Given the description of an element on the screen output the (x, y) to click on. 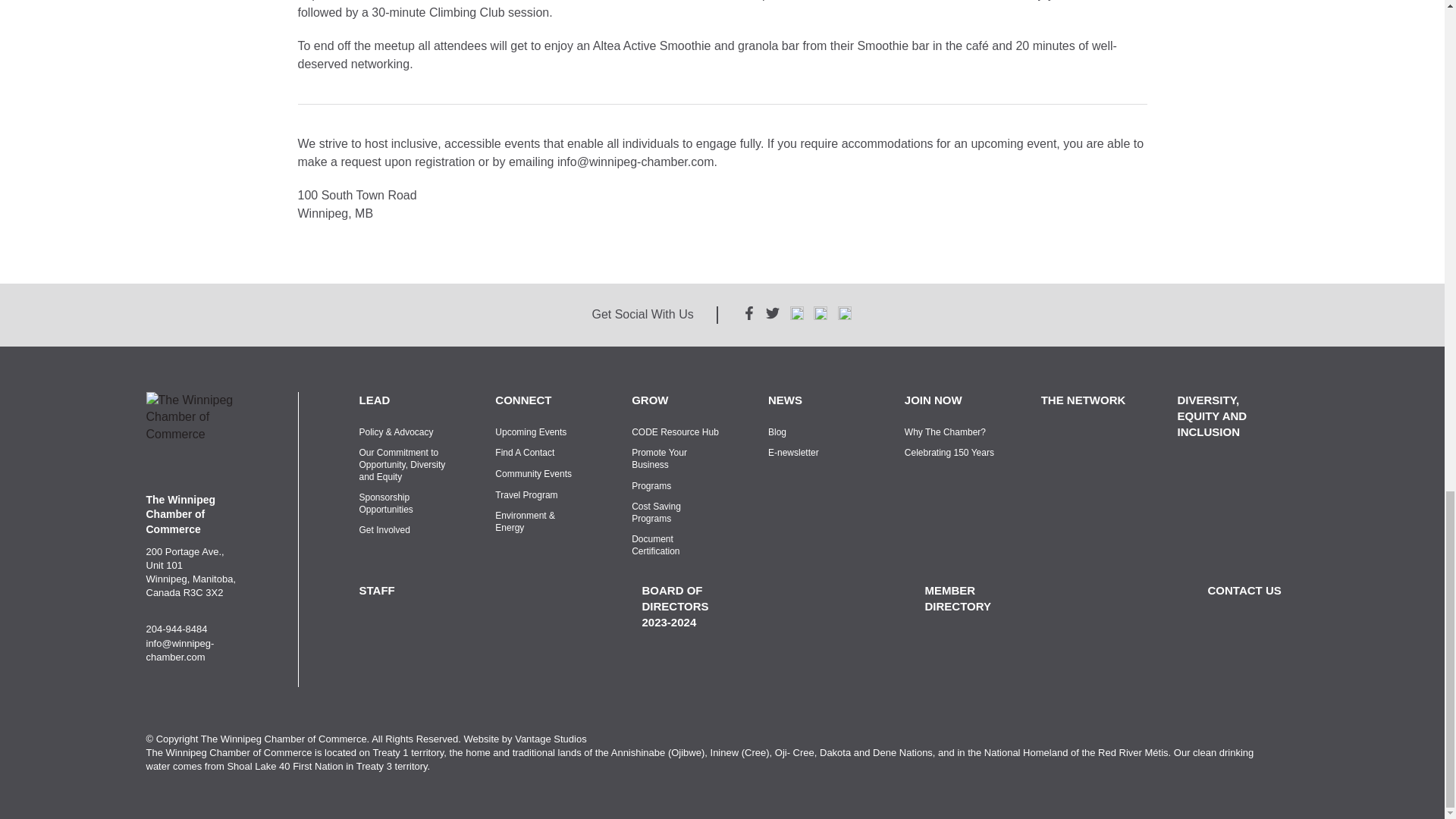
Get Involved (404, 530)
Our Commitment to Opportunity, Diversity and Equity (404, 465)
CONNECT (540, 399)
Sponsorship Opportunities (404, 503)
204-944-8484 (175, 628)
LEAD (404, 399)
Upcoming Events (540, 432)
